Given the description of an element on the screen output the (x, y) to click on. 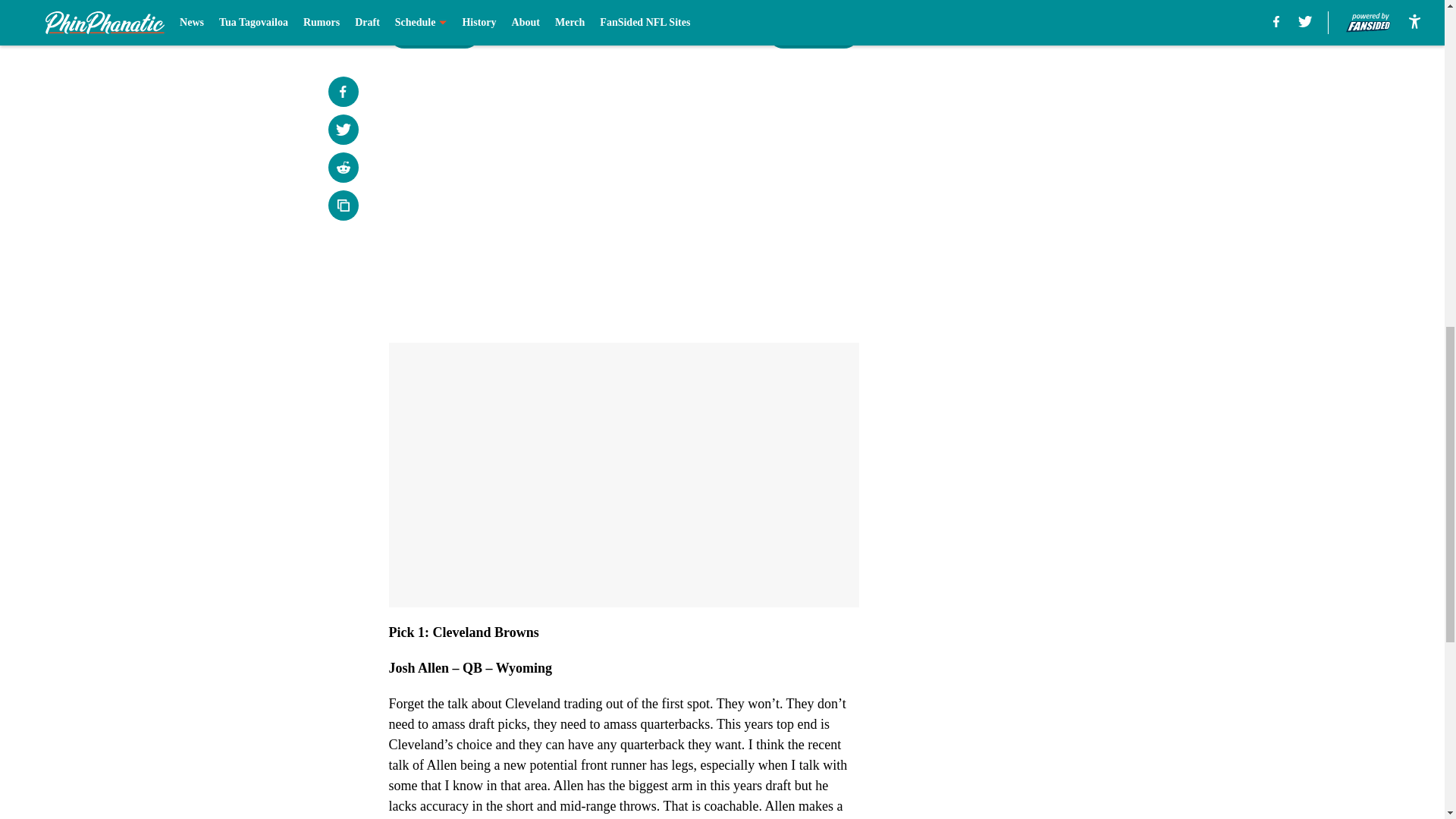
Next (813, 33)
Prev (433, 33)
